Given the description of an element on the screen output the (x, y) to click on. 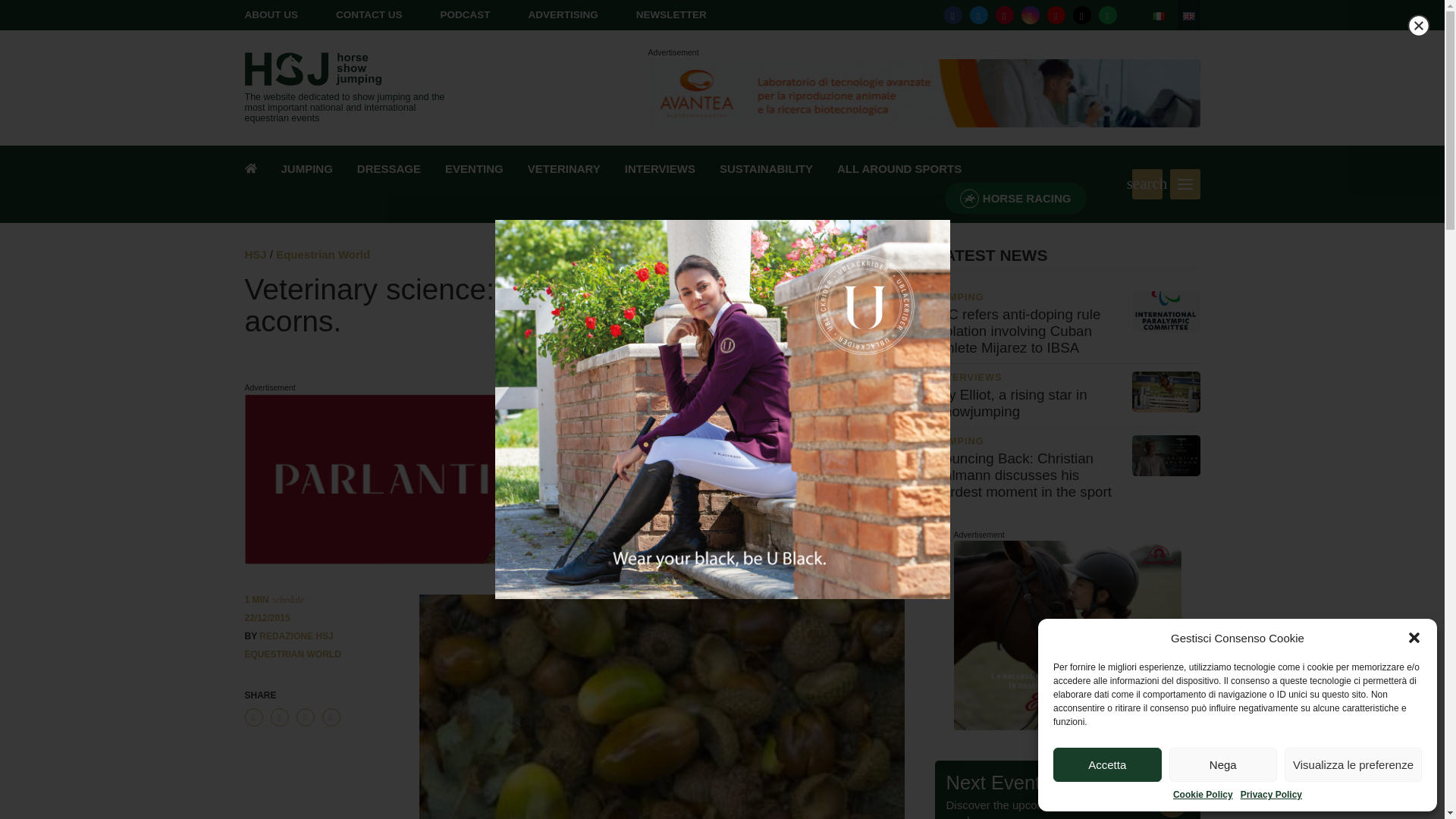
ADVERTISING (563, 14)
View all posts by Redazione HSJ (296, 635)
Print (330, 717)
PODCAST (464, 14)
Accetta (1106, 764)
Veterinary science: be aware when it comes to acorns. 1 (661, 706)
Visualizza le preferenze (1353, 764)
Cookie Policy (1203, 794)
